Given the description of an element on the screen output the (x, y) to click on. 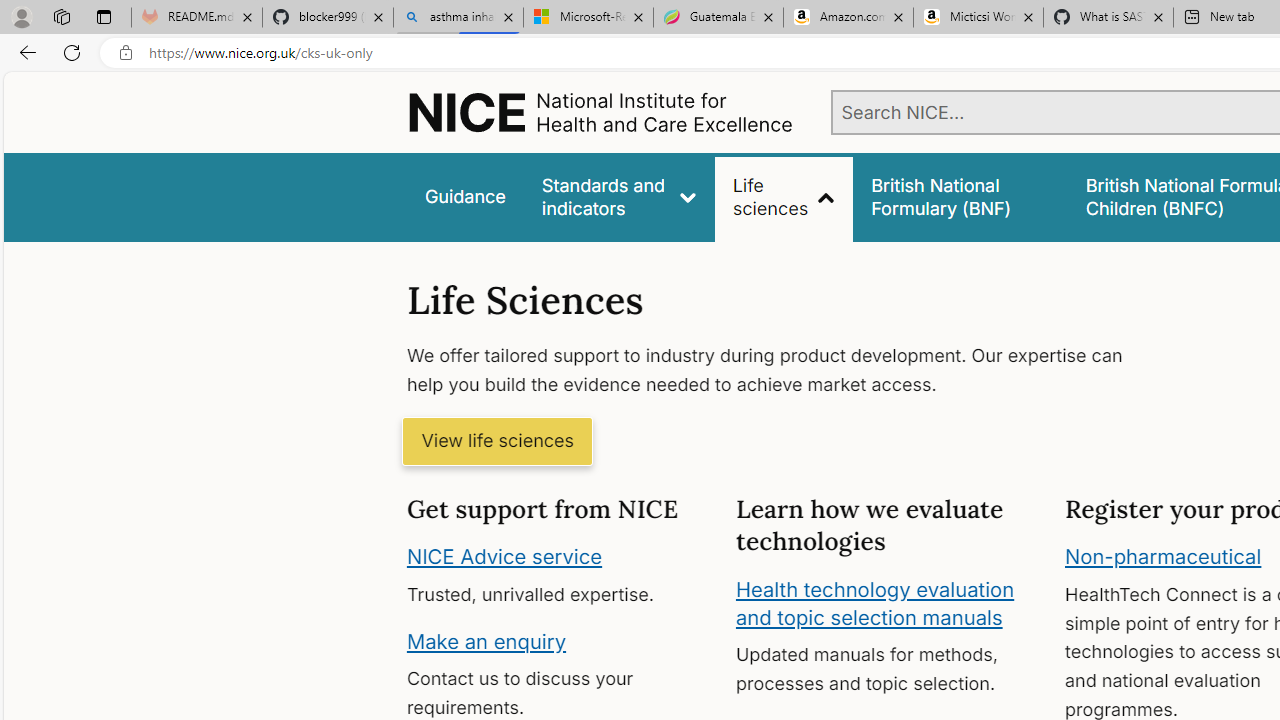
Guidance (464, 196)
false (959, 196)
View life sciences (497, 441)
Health technology evaluation and topic selection manuals (874, 603)
asthma inhaler - Search (458, 17)
Life sciences (783, 196)
Make an enquiry (486, 640)
